Given the description of an element on the screen output the (x, y) to click on. 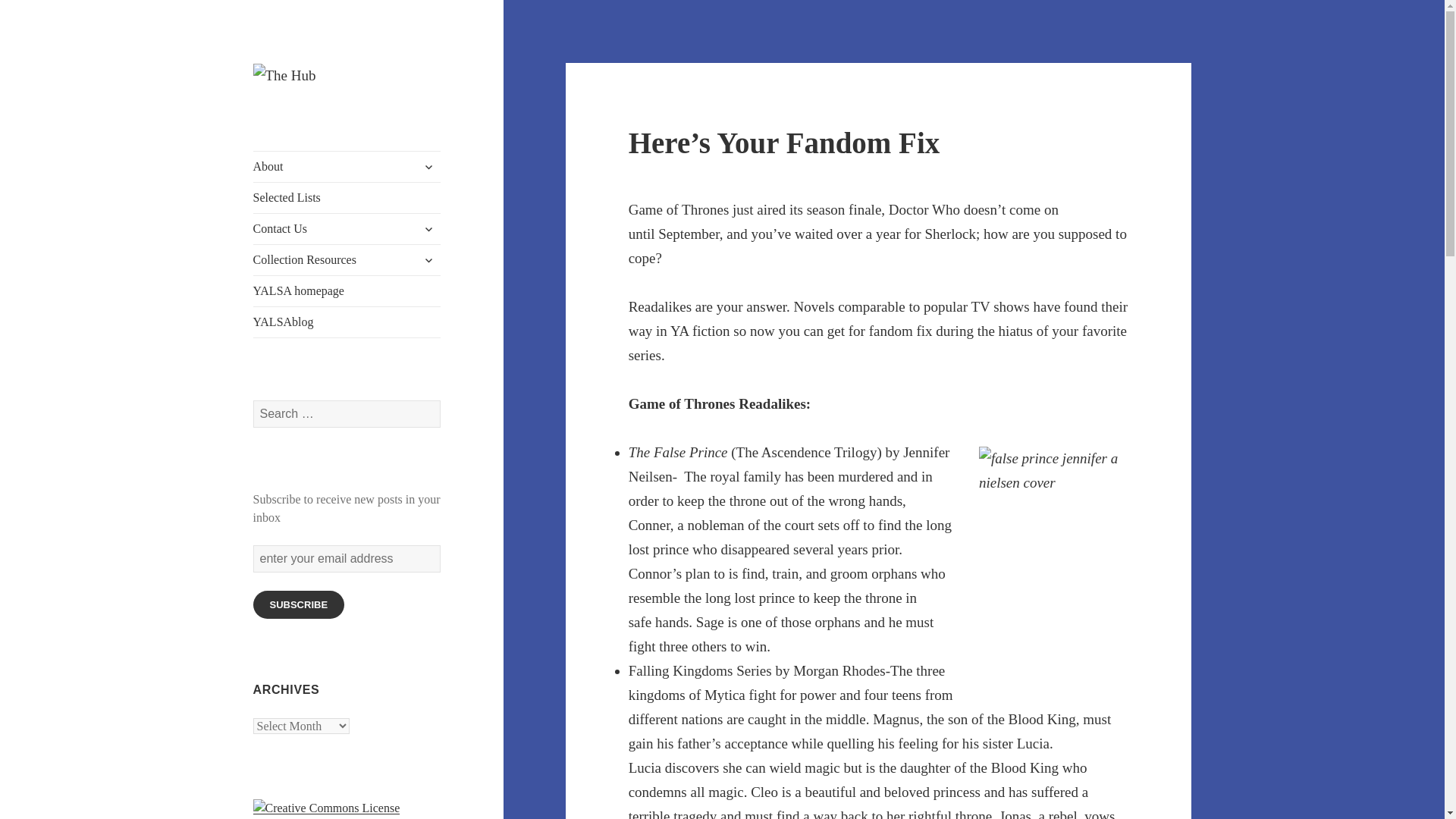
expand child menu (428, 166)
expand child menu (428, 228)
SUBSCRIBE (299, 604)
YALSA homepage (347, 291)
expand child menu (428, 259)
Contact Us (347, 228)
About (347, 166)
YALSAblog (347, 322)
